Given the description of an element on the screen output the (x, y) to click on. 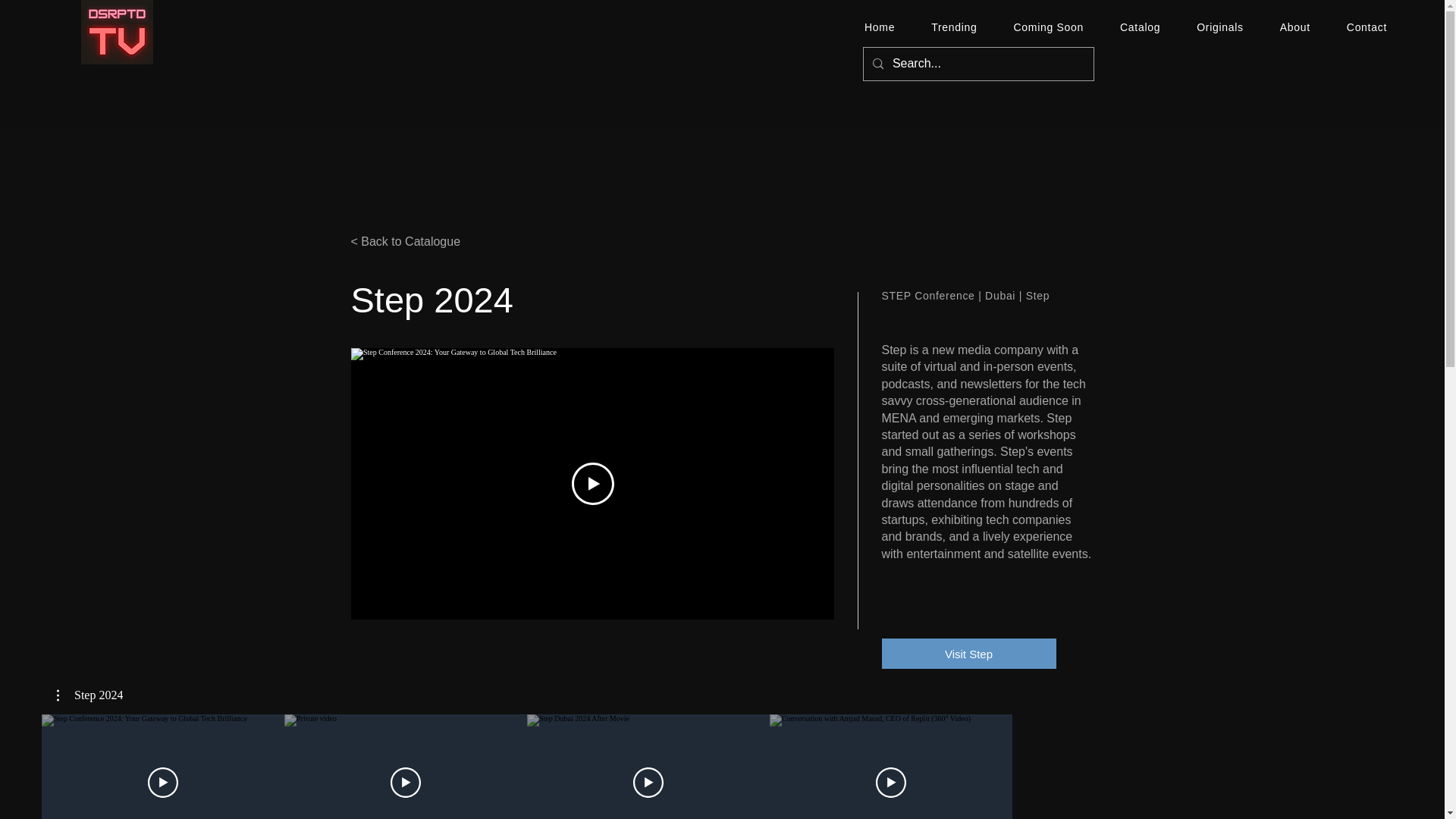
Coming Soon (1048, 26)
Originals (1219, 26)
Home (879, 26)
Catalog (1139, 26)
About (1294, 26)
Trending (953, 26)
Visit Step (967, 653)
Contact (1367, 26)
